Given the description of an element on the screen output the (x, y) to click on. 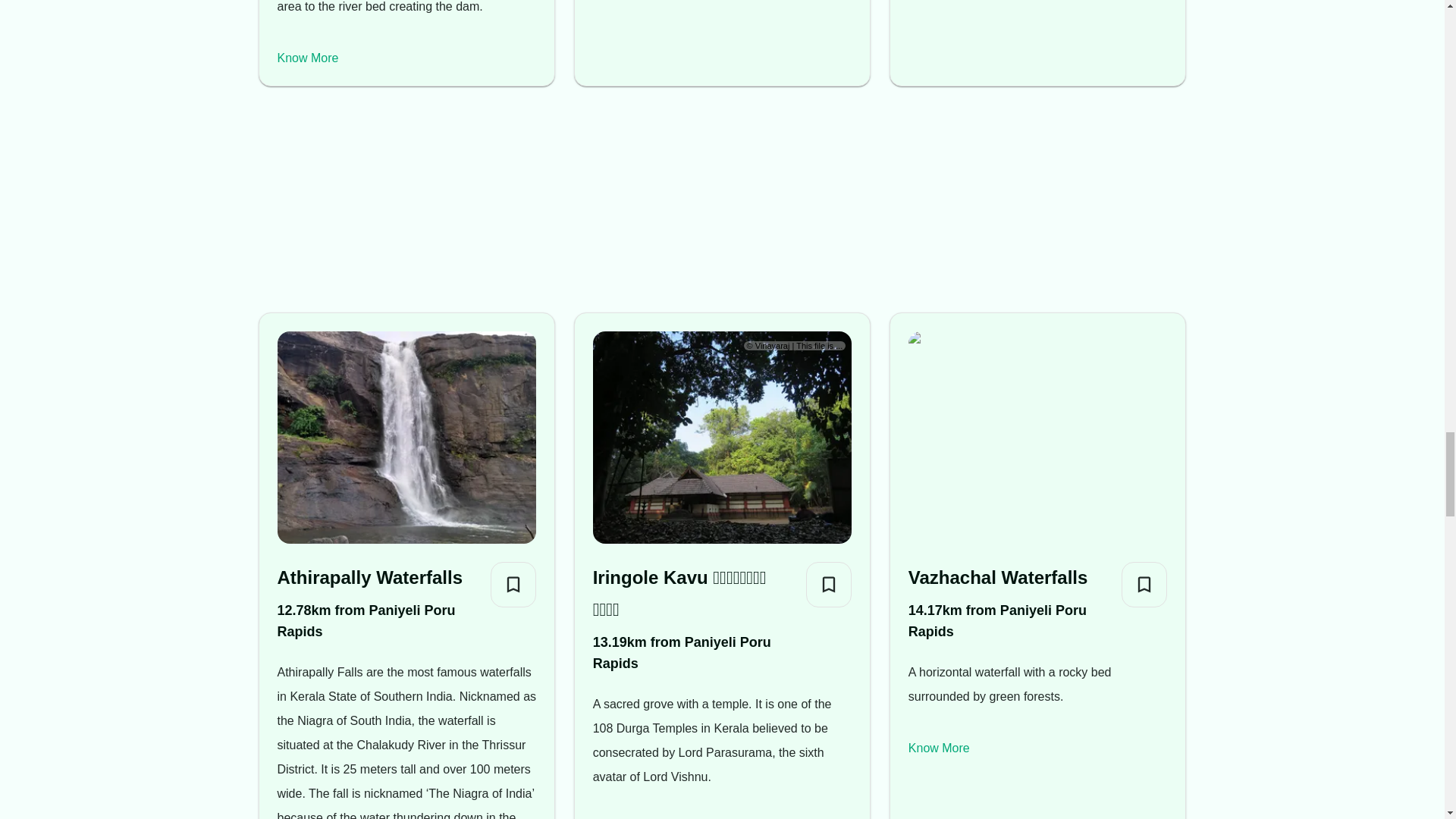
Add to Bucket List (512, 584)
Add to Bucket List (1144, 584)
Add to Bucket List (828, 584)
